Given the description of an element on the screen output the (x, y) to click on. 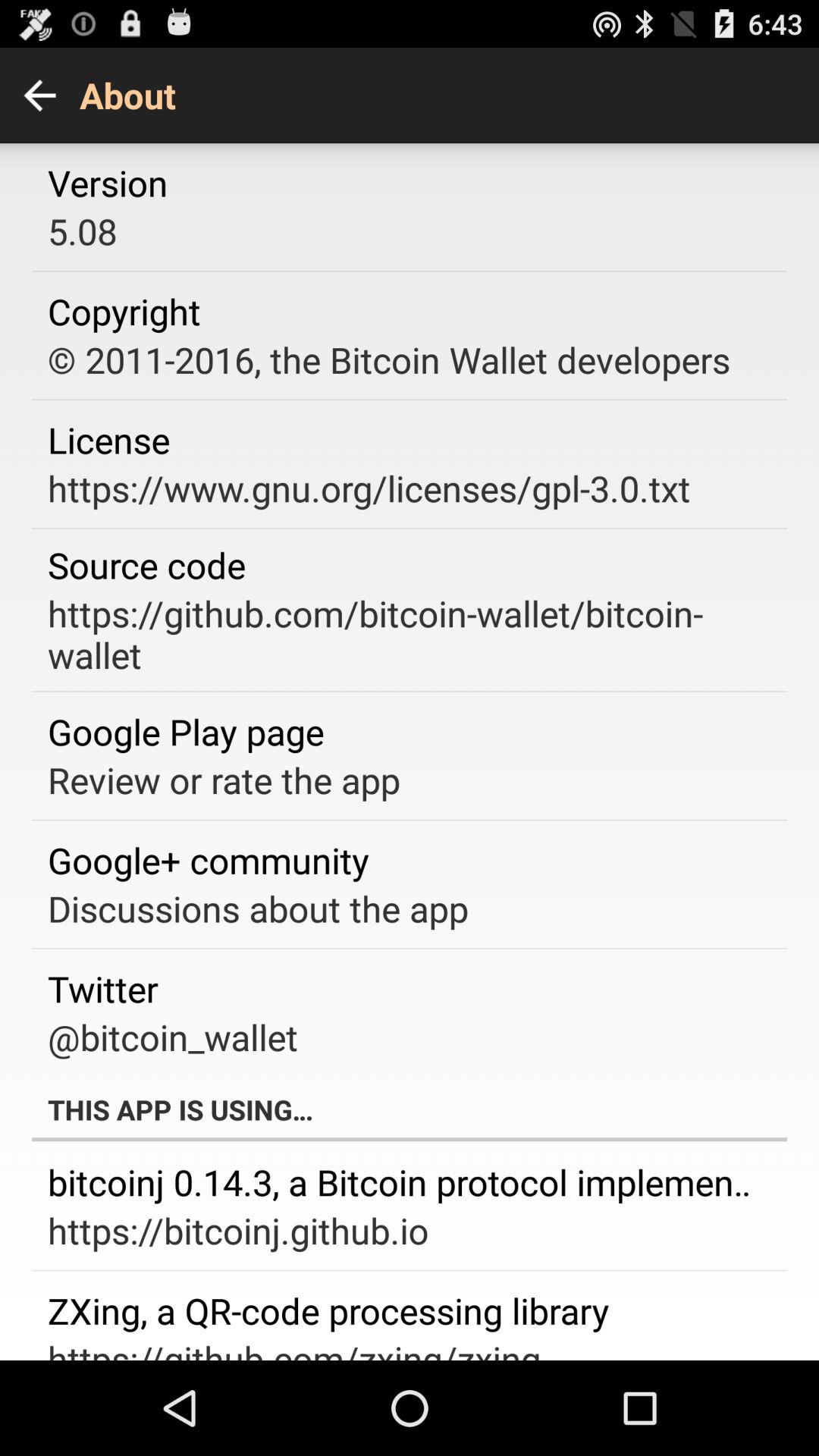
press app above https www gnu icon (108, 439)
